Given the description of an element on the screen output the (x, y) to click on. 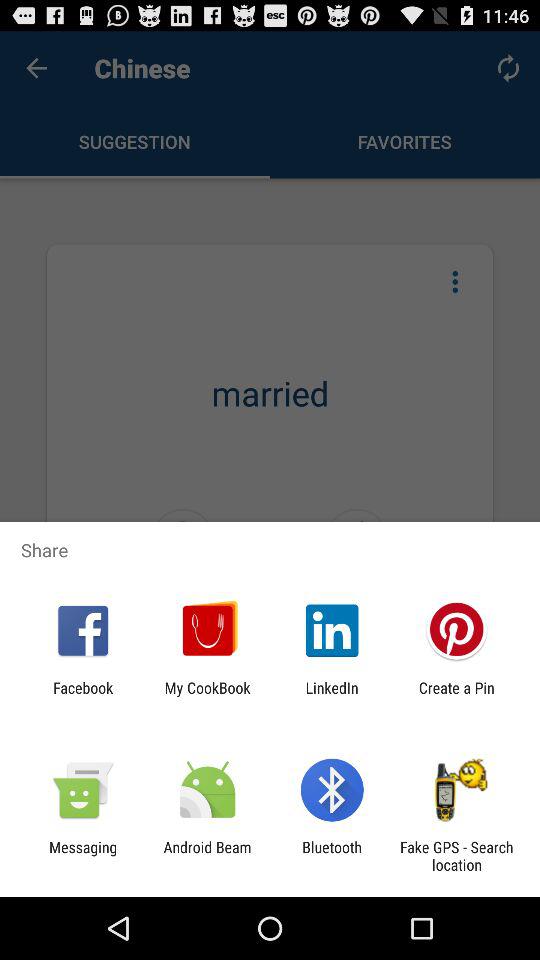
open the facebook item (83, 696)
